Given the description of an element on the screen output the (x, y) to click on. 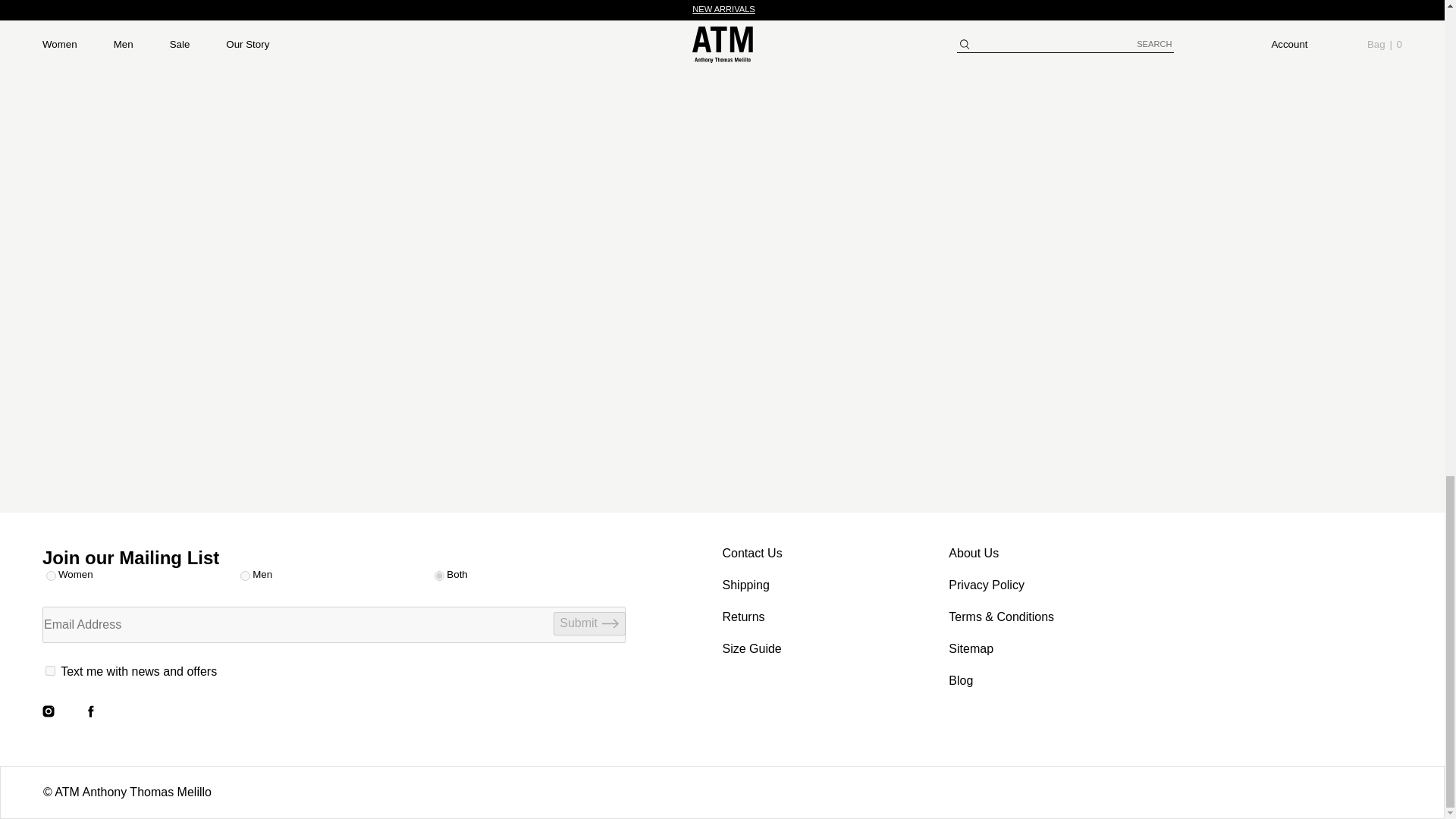
on (50, 670)
Facebook (90, 711)
Instagram (48, 711)
